Given the description of an element on the screen output the (x, y) to click on. 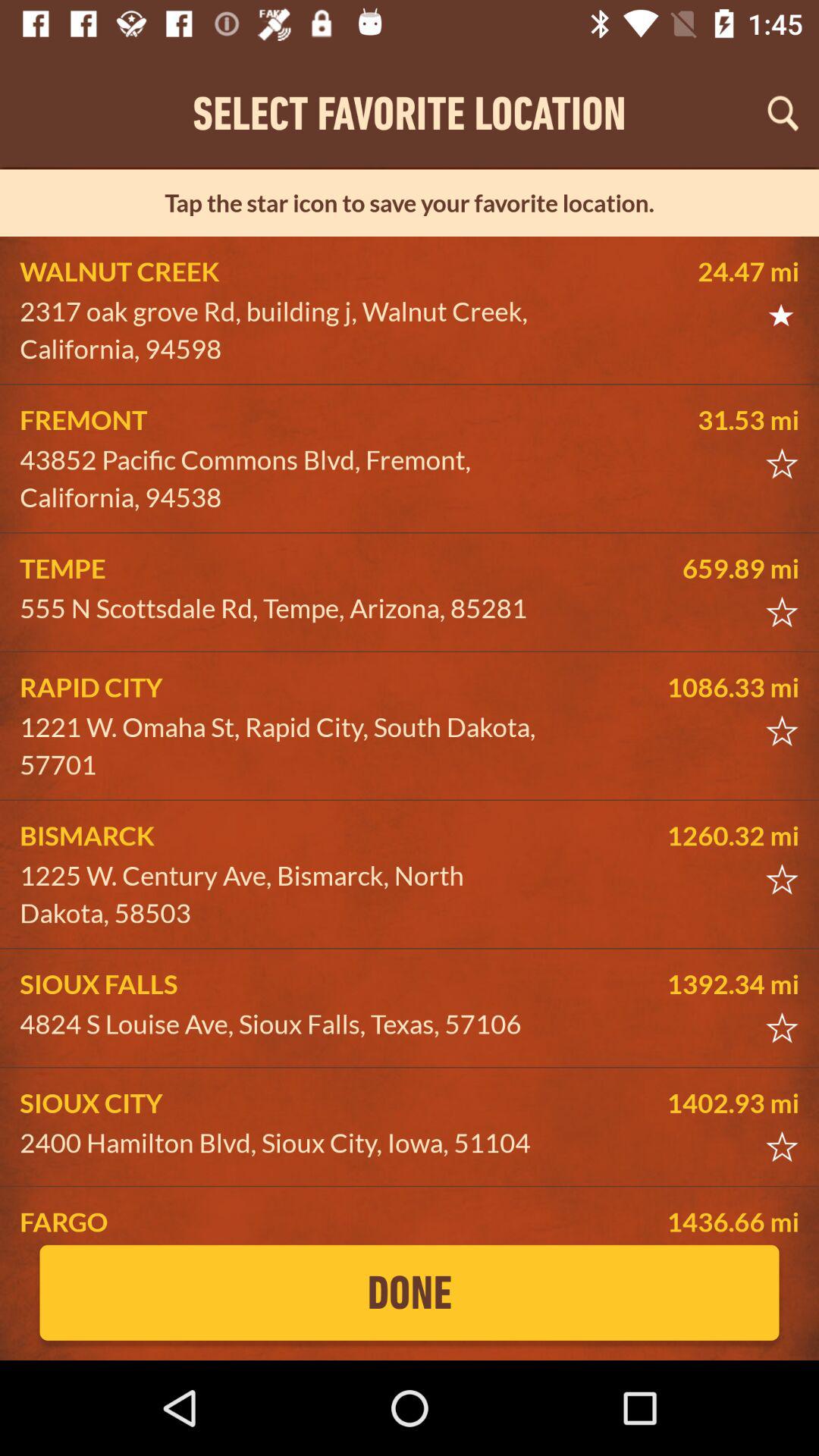
select the icon above tempe (285, 478)
